Given the description of an element on the screen output the (x, y) to click on. 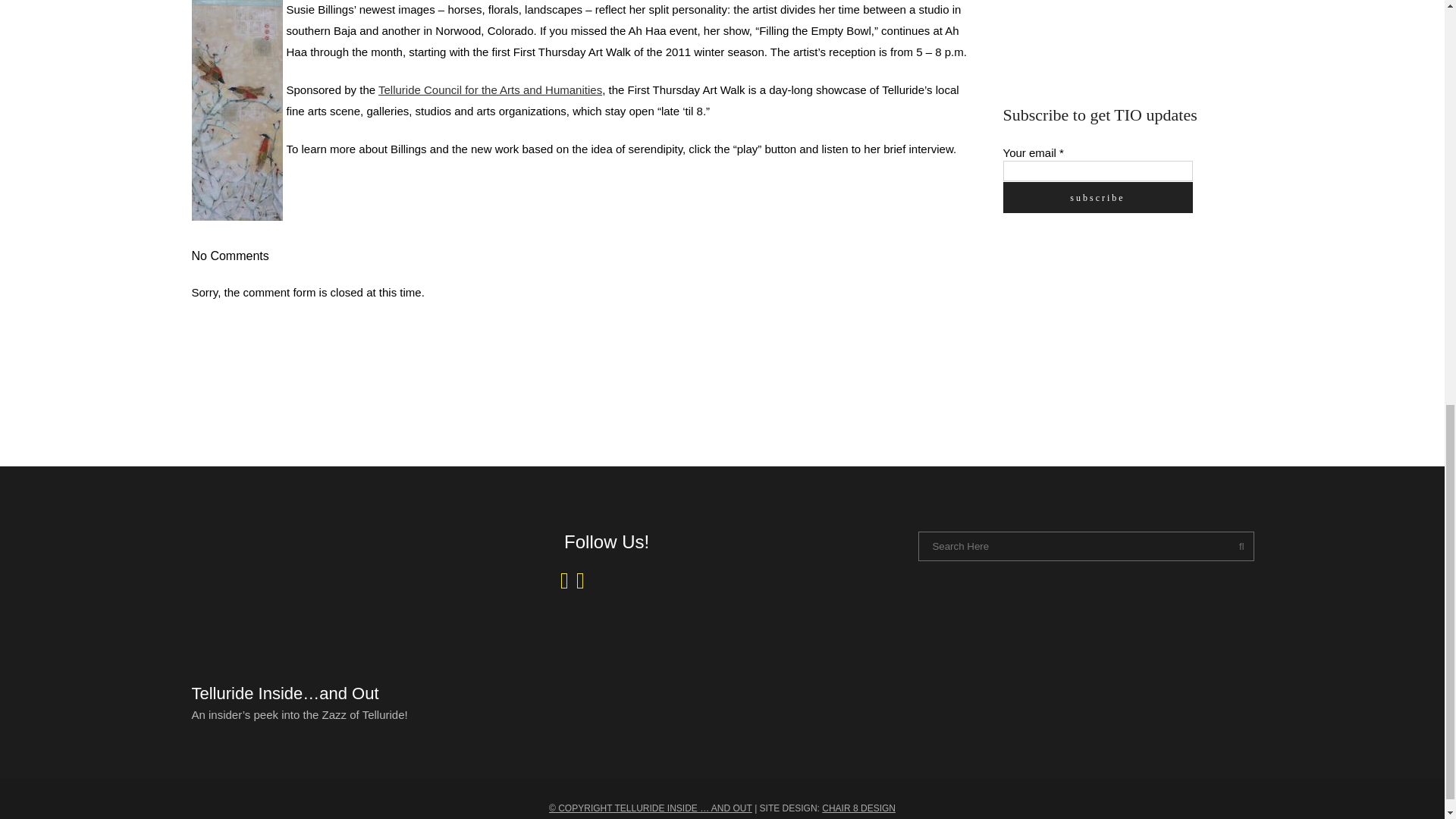
3rd party ad content (1116, 339)
Your email (1097, 170)
3rd party ad content (1116, 35)
Subscribe (1097, 196)
